Given the description of an element on the screen output the (x, y) to click on. 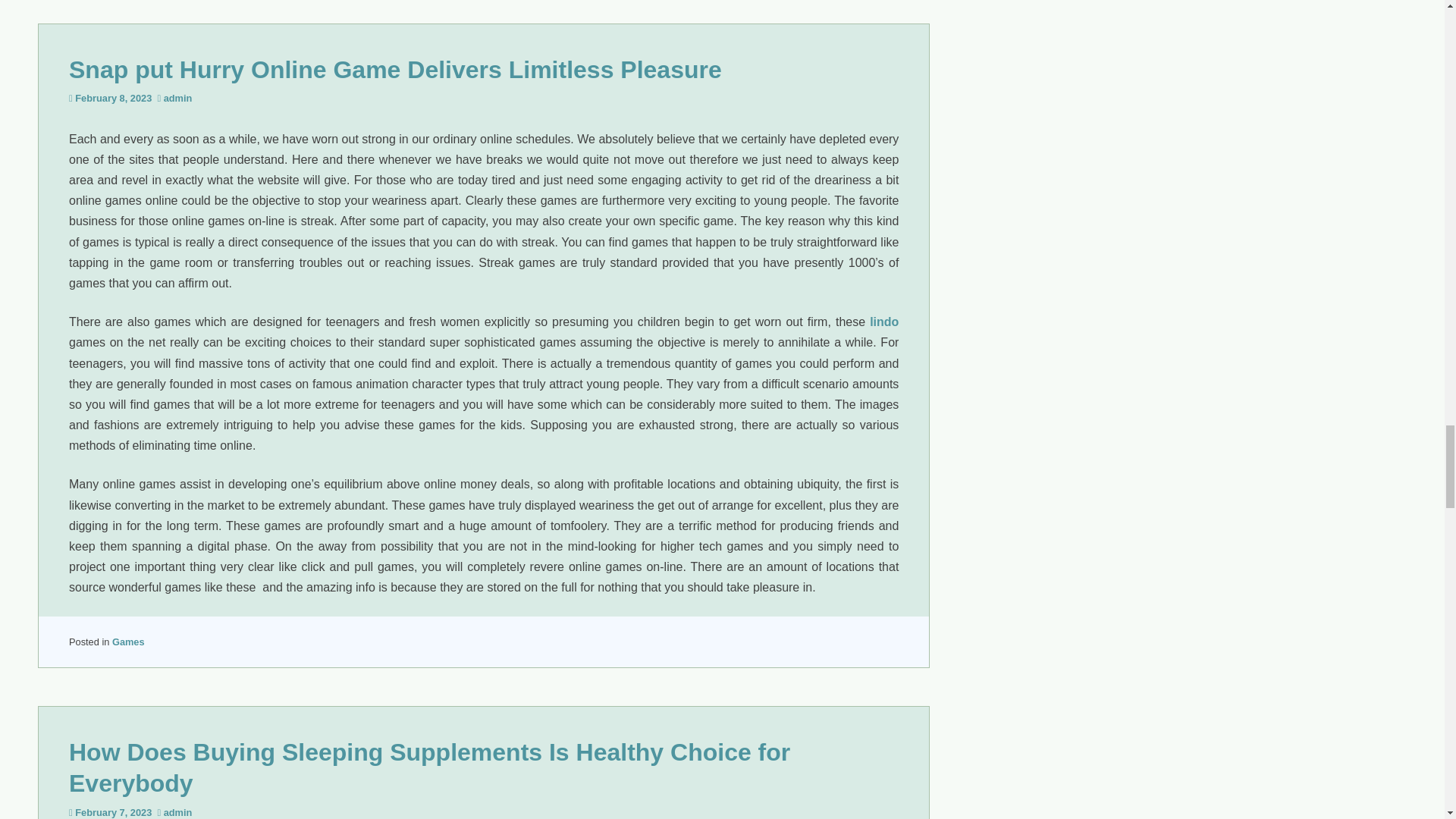
admin (177, 812)
Snap put Hurry Online Game Delivers Limitless Pleasure (395, 69)
lindo (883, 321)
admin (177, 98)
Games (128, 641)
February 8, 2023 (113, 98)
February 7, 2023 (113, 812)
